Given the description of an element on the screen output the (x, y) to click on. 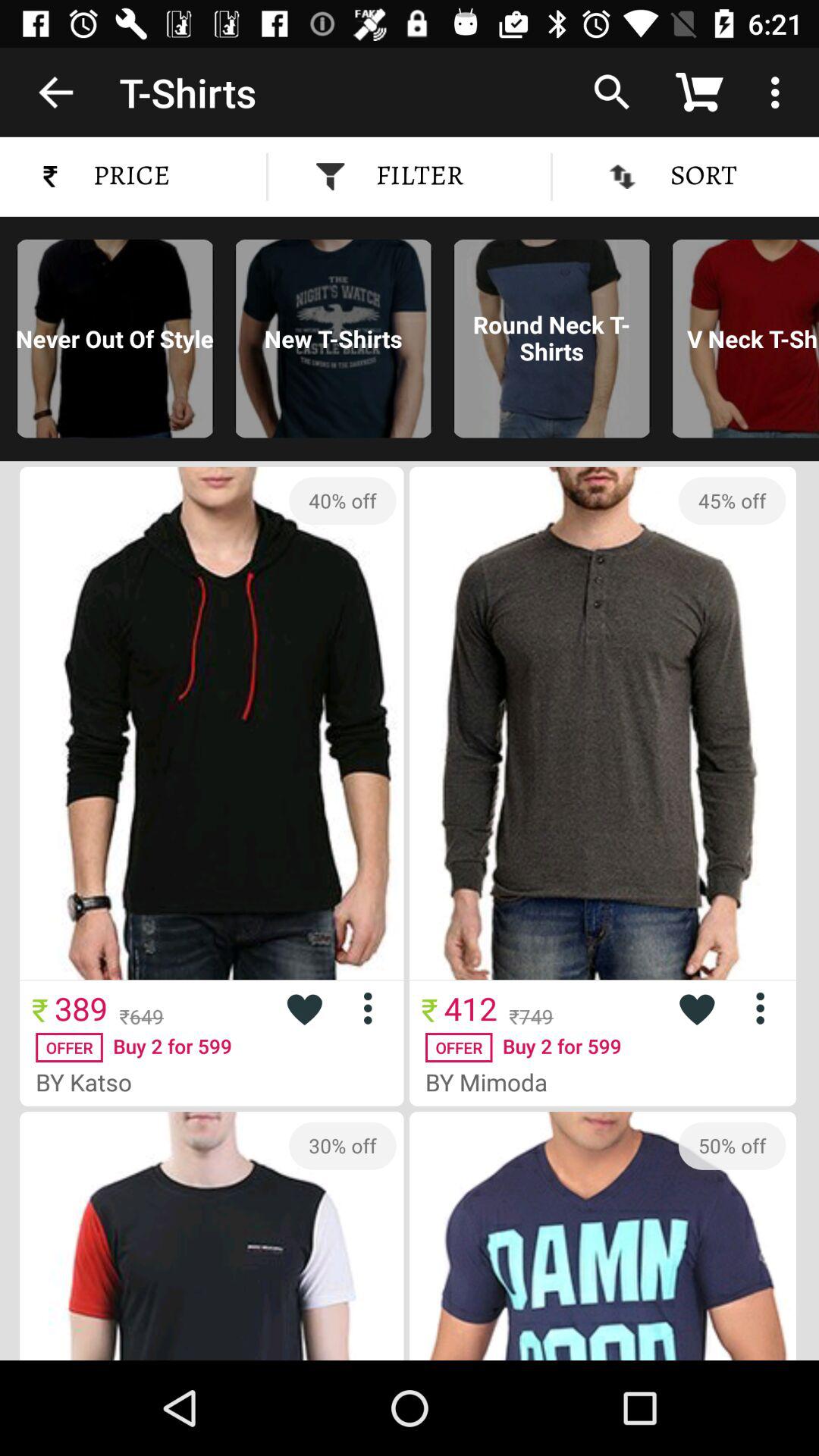
click by katso (89, 1081)
